Given the description of an element on the screen output the (x, y) to click on. 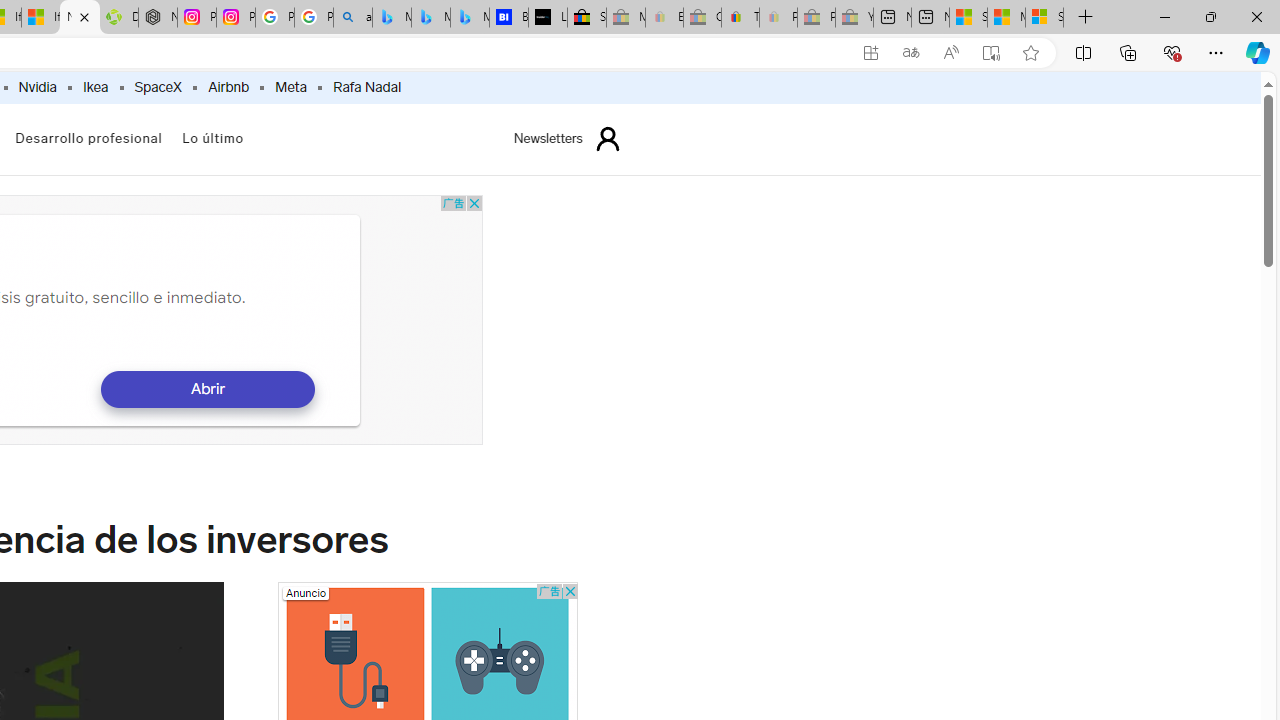
Desarrollo profesional (88, 139)
Airbnb (227, 88)
Rafa Nadal (366, 88)
Enter Immersive Reader (F9) (991, 53)
Nordace - Nordace Edin Collection (157, 17)
alabama high school quarterback dies - Search (353, 17)
Sign in to your Microsoft account (1044, 17)
Rafa Nadal (367, 88)
SpaceX (157, 88)
